Given the description of an element on the screen output the (x, y) to click on. 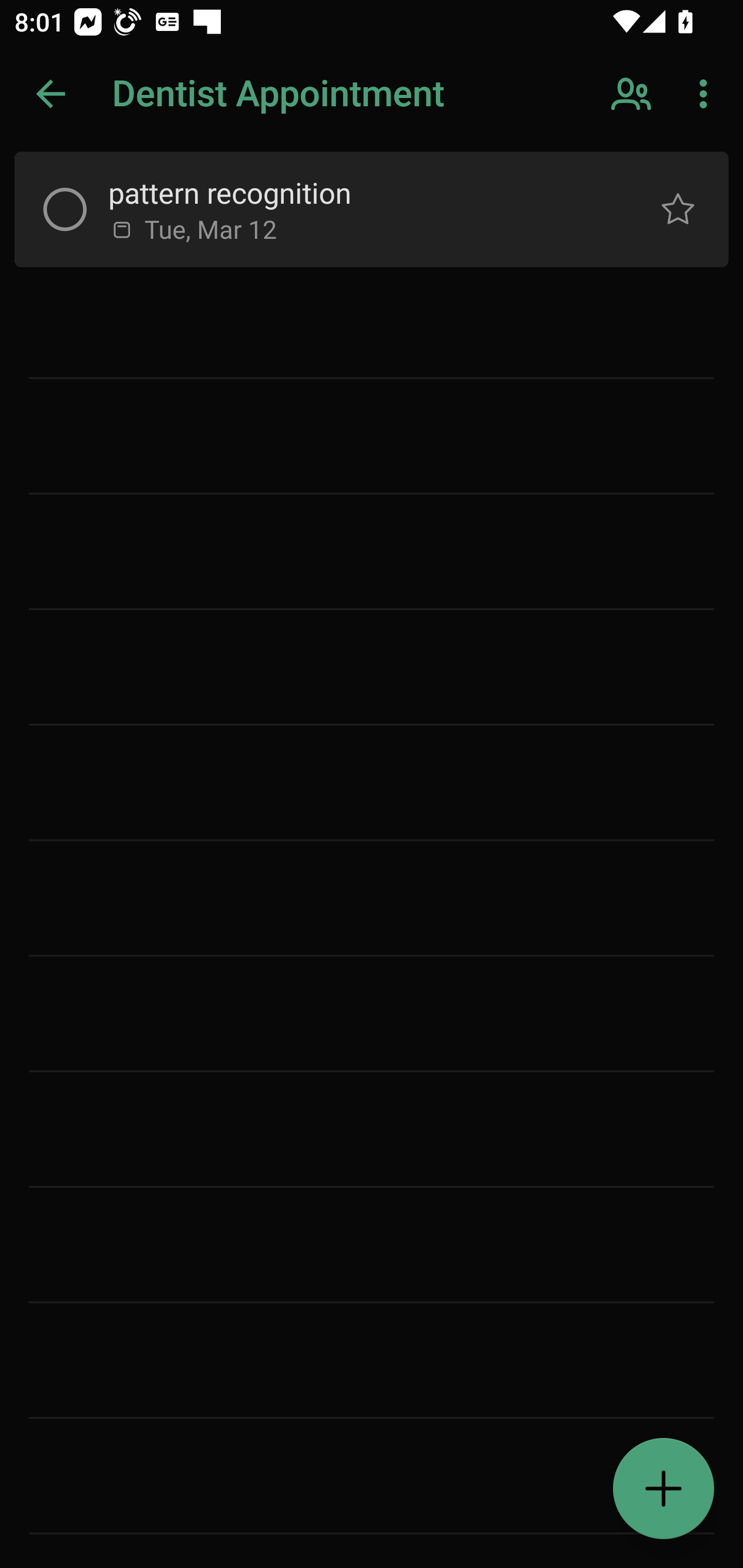
Back (50, 93)
Sharing options (632, 93)
More options (706, 93)
Incomplete task pattern recognition, Button (64, 209)
Normal task pattern recognition, Button (677, 209)
pattern recognition (356, 191)
Add a task (663, 1488)
